Given the description of an element on the screen output the (x, y) to click on. 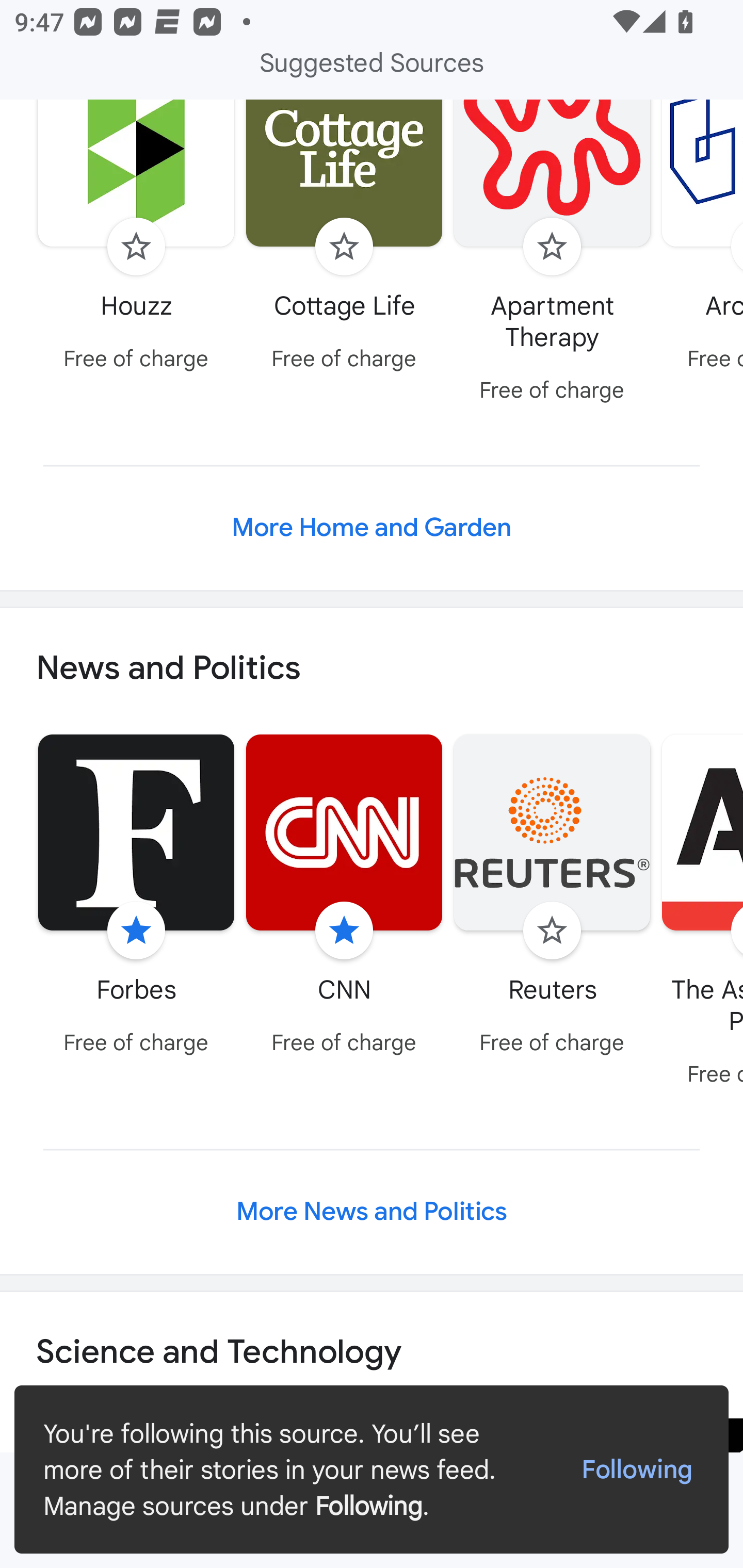
Follow Houzz Free of charge (136, 240)
Follow Cottage Life Free of charge (344, 240)
Follow Apartment Therapy Free of charge (552, 255)
Follow (135, 246)
Follow (343, 246)
Follow (552, 246)
More Home and Garden (371, 527)
News and Politics (371, 668)
Unfollow Forbes Free of charge (136, 897)
Unfollow CNN Free of charge (344, 897)
Follow Reuters Free of charge (552, 897)
Unfollow (135, 930)
Unfollow (343, 930)
Follow (552, 930)
More News and Politics (371, 1211)
Science and Technology (371, 1352)
Following (636, 1469)
